Given the description of an element on the screen output the (x, y) to click on. 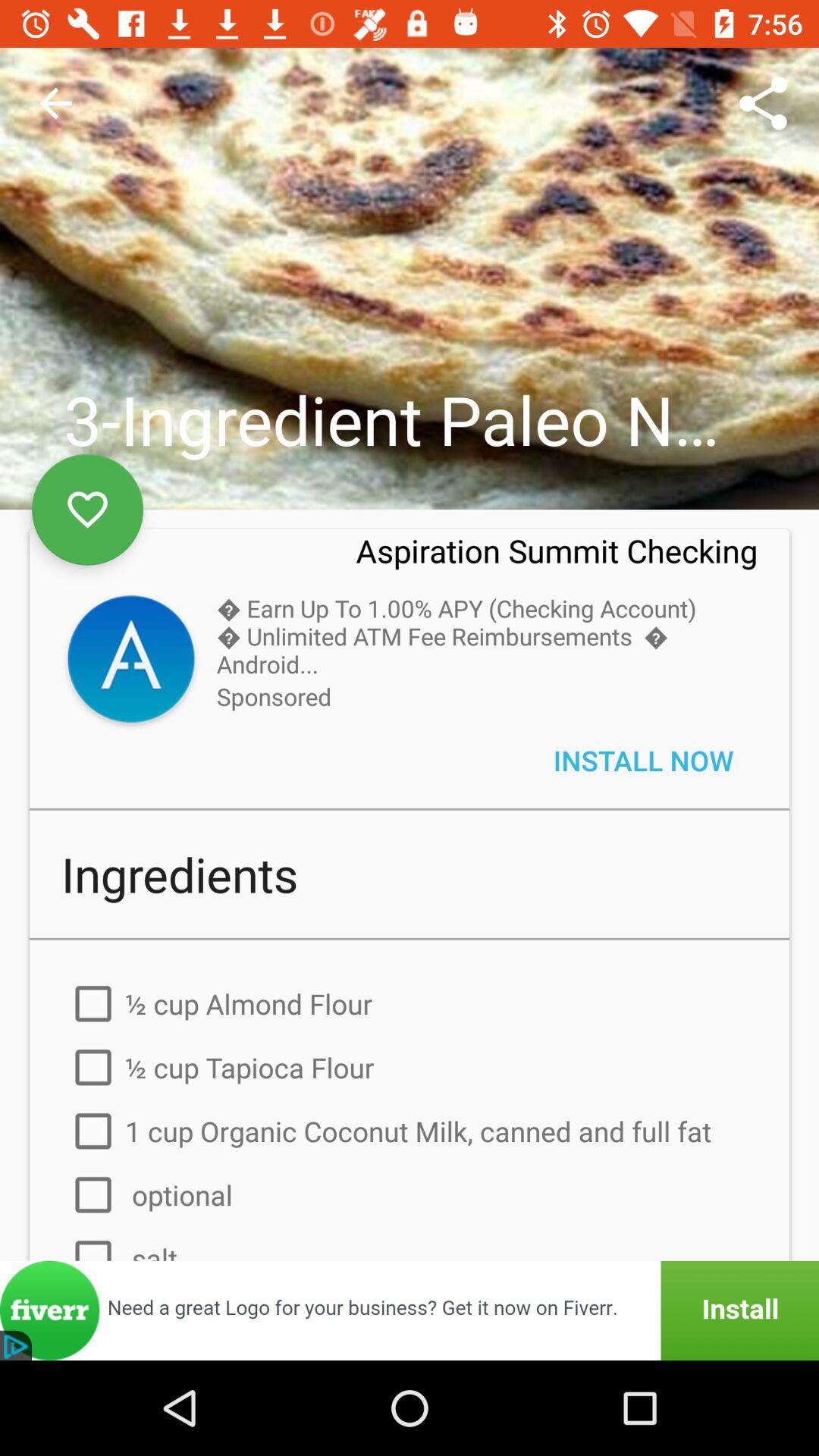
to go to the home page of the company (130, 661)
